Given the description of an element on the screen output the (x, y) to click on. 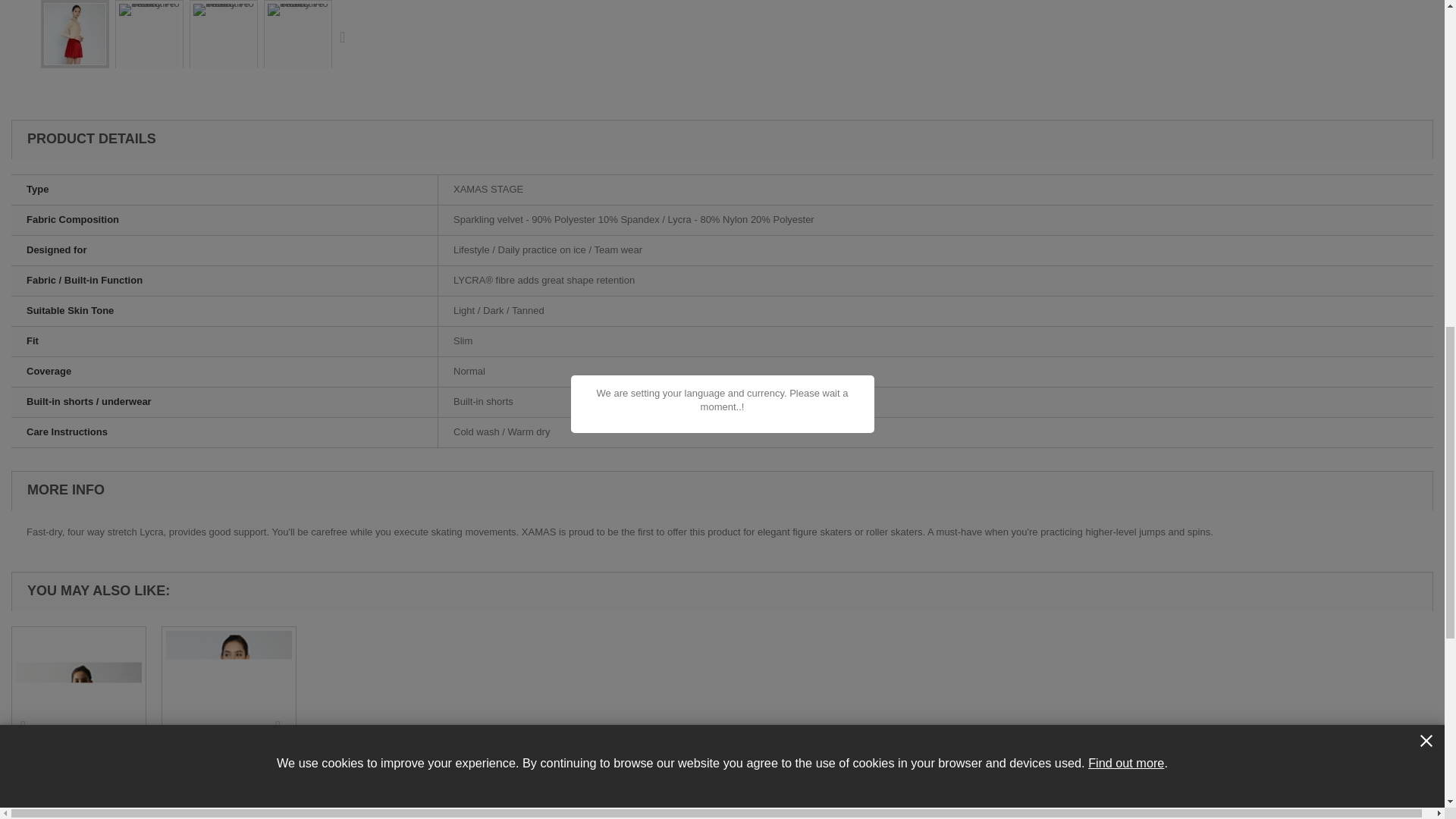
Trendy Pro Velvet Protective Skort (149, 48)
Trendy Pro Velvet Protective Skort (148, 49)
Trendy Pro Velvet Protective Skort (74, 34)
Trendy Pro Velvet Protective Skort (74, 33)
Trendy Pro Velvet Protective Skort (223, 49)
Trendy Pro Velvet Protective Skort (223, 48)
Trendy Pro Velvet Protective Skort (297, 48)
